Given the description of an element on the screen output the (x, y) to click on. 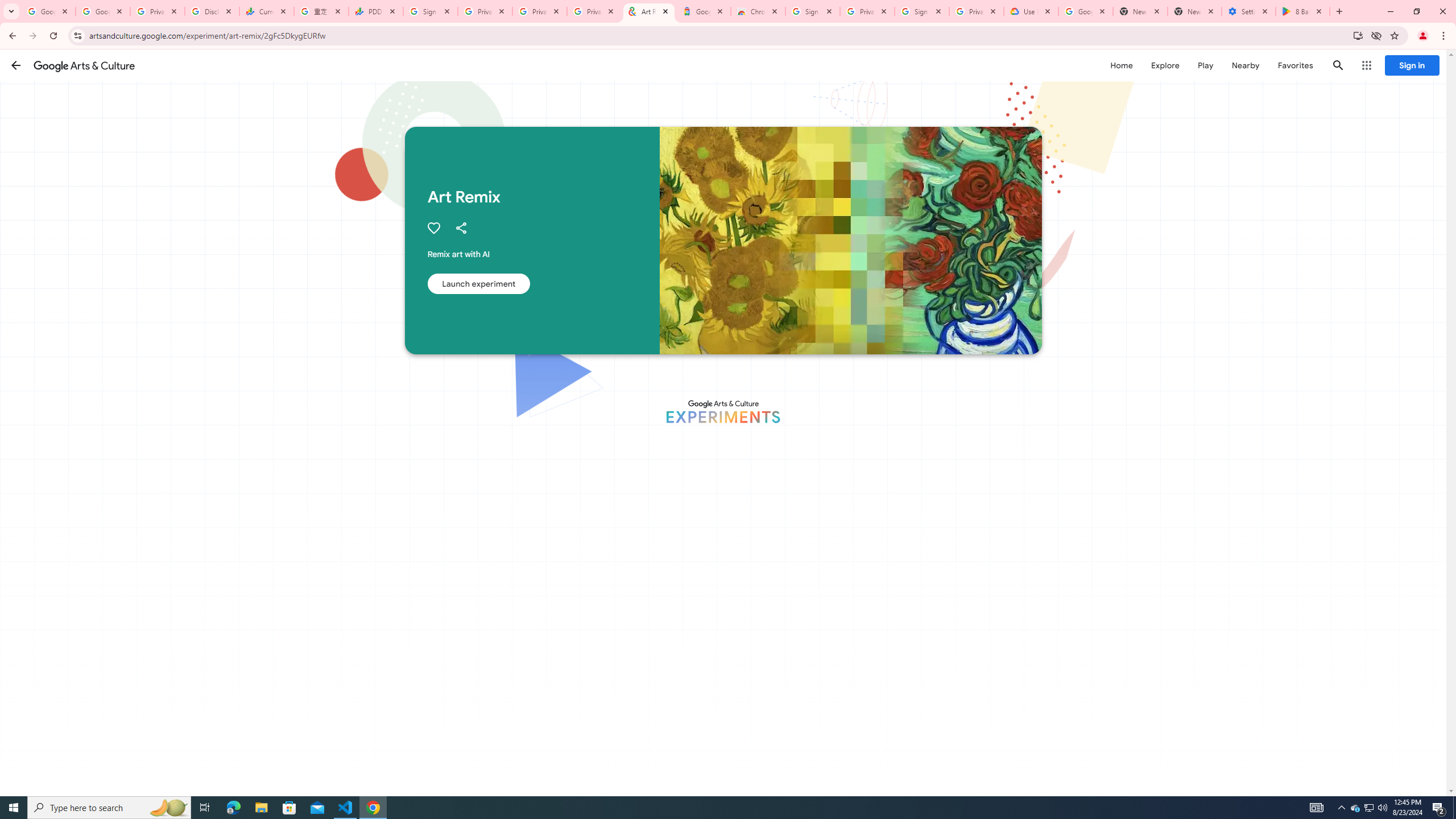
Google Arts & Culture Experiments (722, 411)
Google Arts & Culture (84, 65)
Sign in - Google Accounts (812, 11)
Google (703, 11)
Close Experiment (1423, 71)
